Given the description of an element on the screen output the (x, y) to click on. 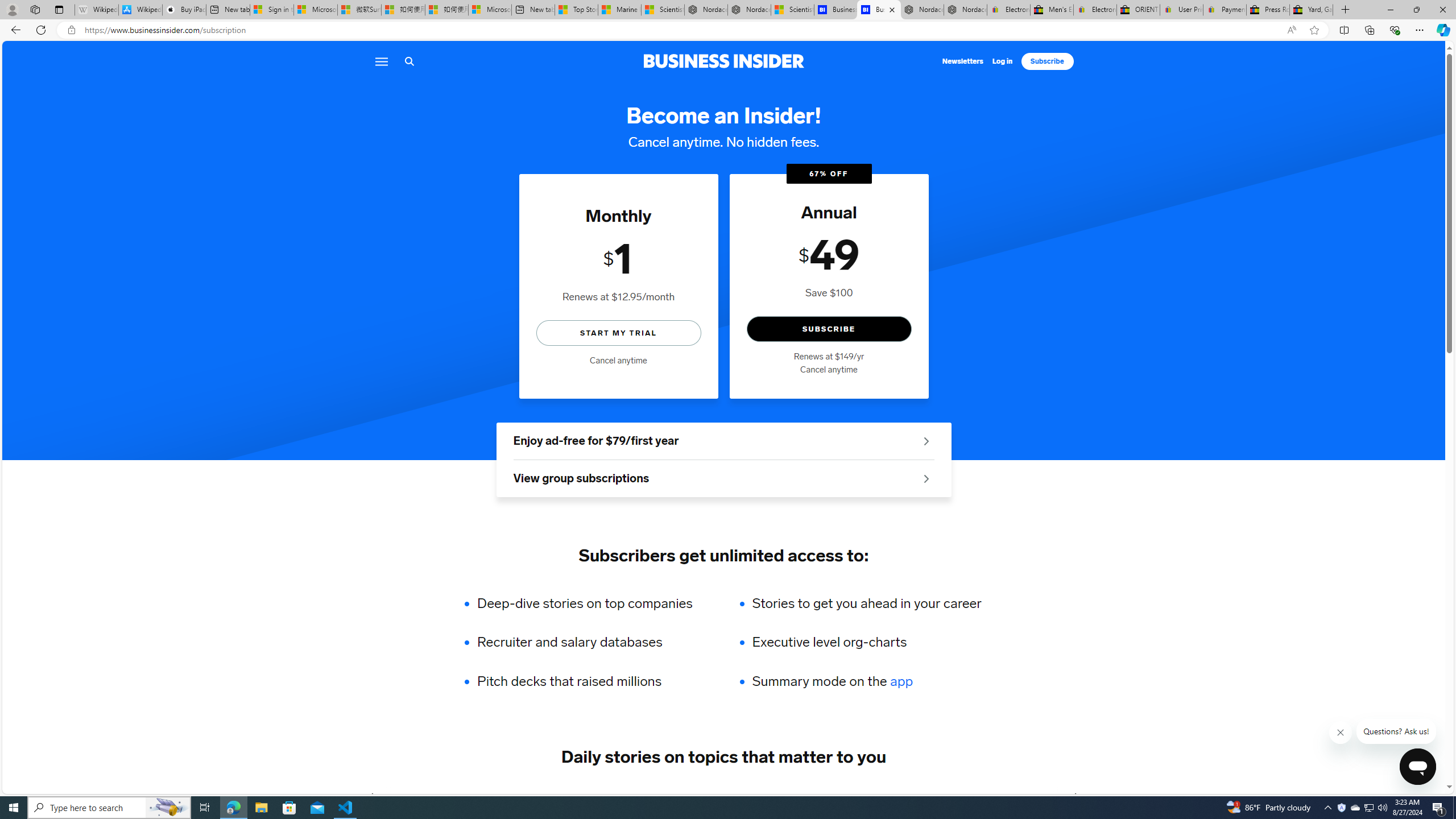
Search icon (408, 61)
HEALTHCARE (802, 796)
See group offers (925, 478)
Class: sc-1k07fow-1 cbnSms (1417, 766)
Class: sc-1uf0igr-1 fjHZYk (1340, 732)
Close message from company (1340, 732)
